Given the description of an element on the screen output the (x, y) to click on. 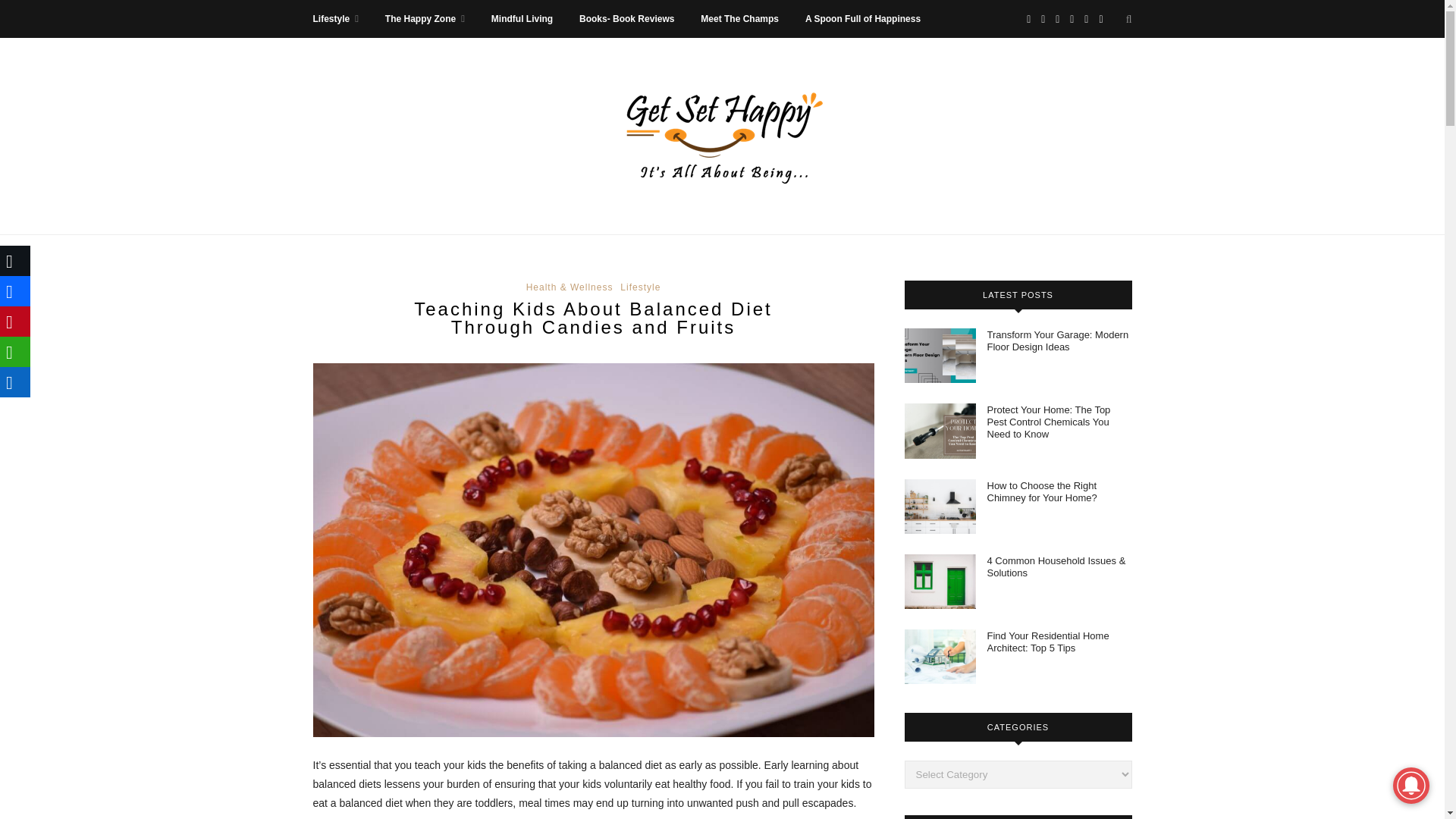
The Happy Zone (424, 18)
Books- Book Reviews (626, 18)
Lifestyle (335, 18)
Meet The Champs (739, 18)
Mindful Living (522, 18)
A Spoon Full of Happiness (862, 18)
